Given the description of an element on the screen output the (x, y) to click on. 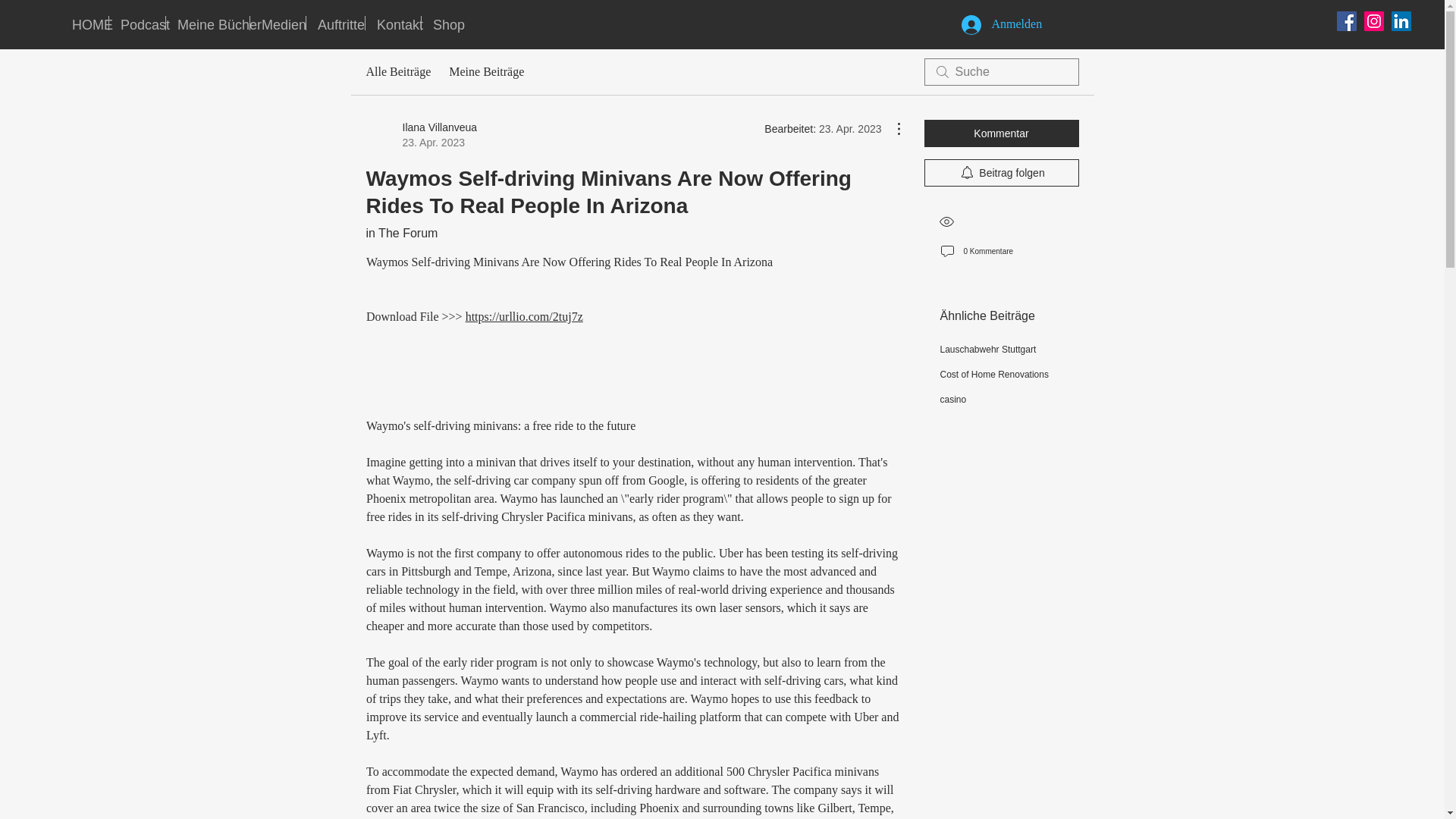
Kontakt (421, 134)
Cost of Home Renovations (392, 22)
Kommentar (994, 374)
Anmelden (1000, 133)
Shop (996, 24)
Medien (443, 22)
Podcast (277, 22)
in The Forum (137, 22)
Lauschabwehr Stuttgart (401, 232)
casino (988, 348)
Beitrag folgen (953, 398)
Auftritte (1000, 172)
HOME (335, 22)
